Given the description of an element on the screen output the (x, y) to click on. 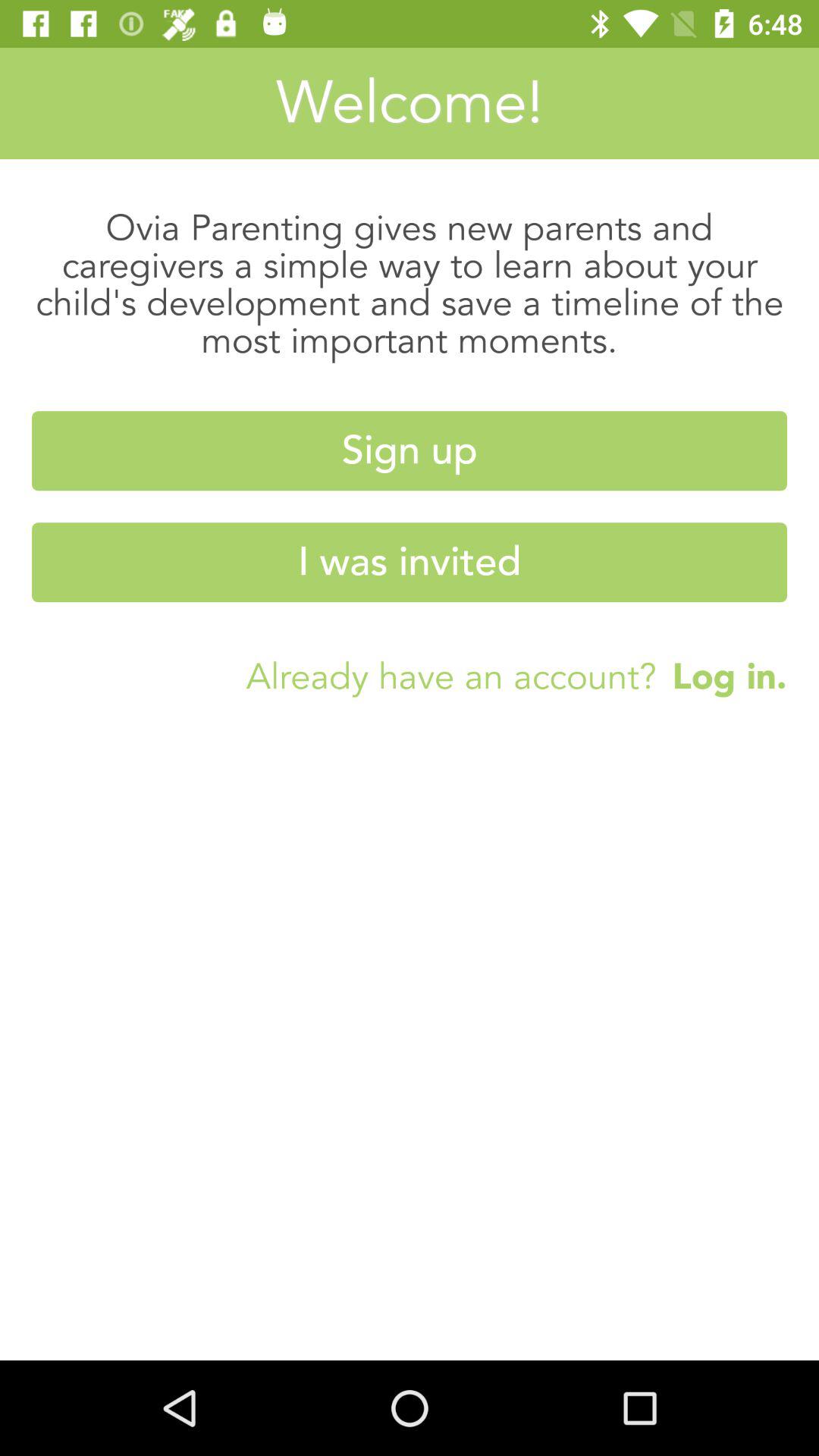
click icon below the i was invited (721, 675)
